Given the description of an element on the screen output the (x, y) to click on. 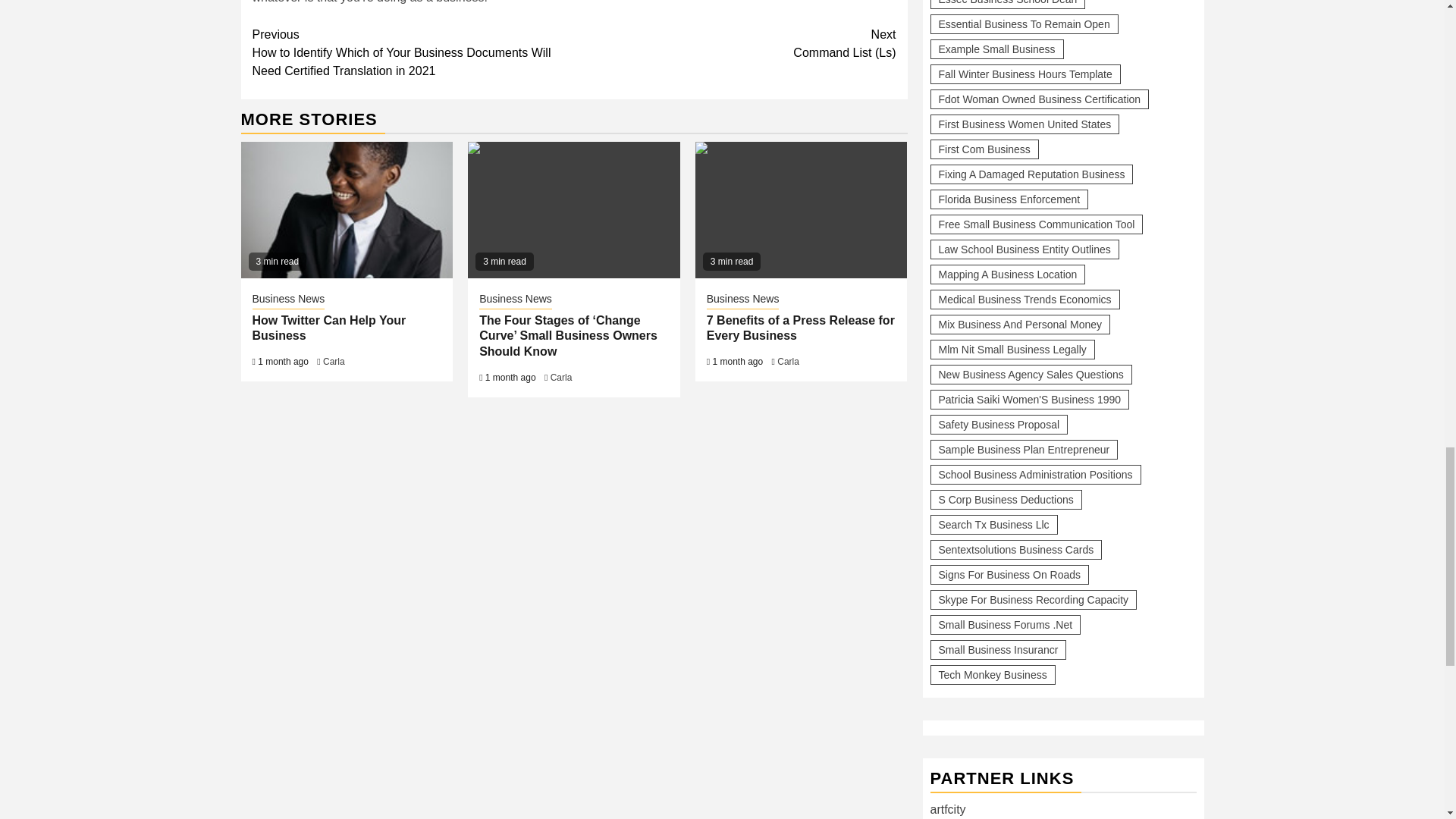
Carla (561, 377)
How Twitter Can Help Your Business (328, 328)
7 Benefits of a Press Release for Every Business (801, 209)
Business News (515, 300)
Carla (334, 361)
Business News (287, 300)
How Twitter Can Help Your Business (346, 209)
